Given the description of an element on the screen output the (x, y) to click on. 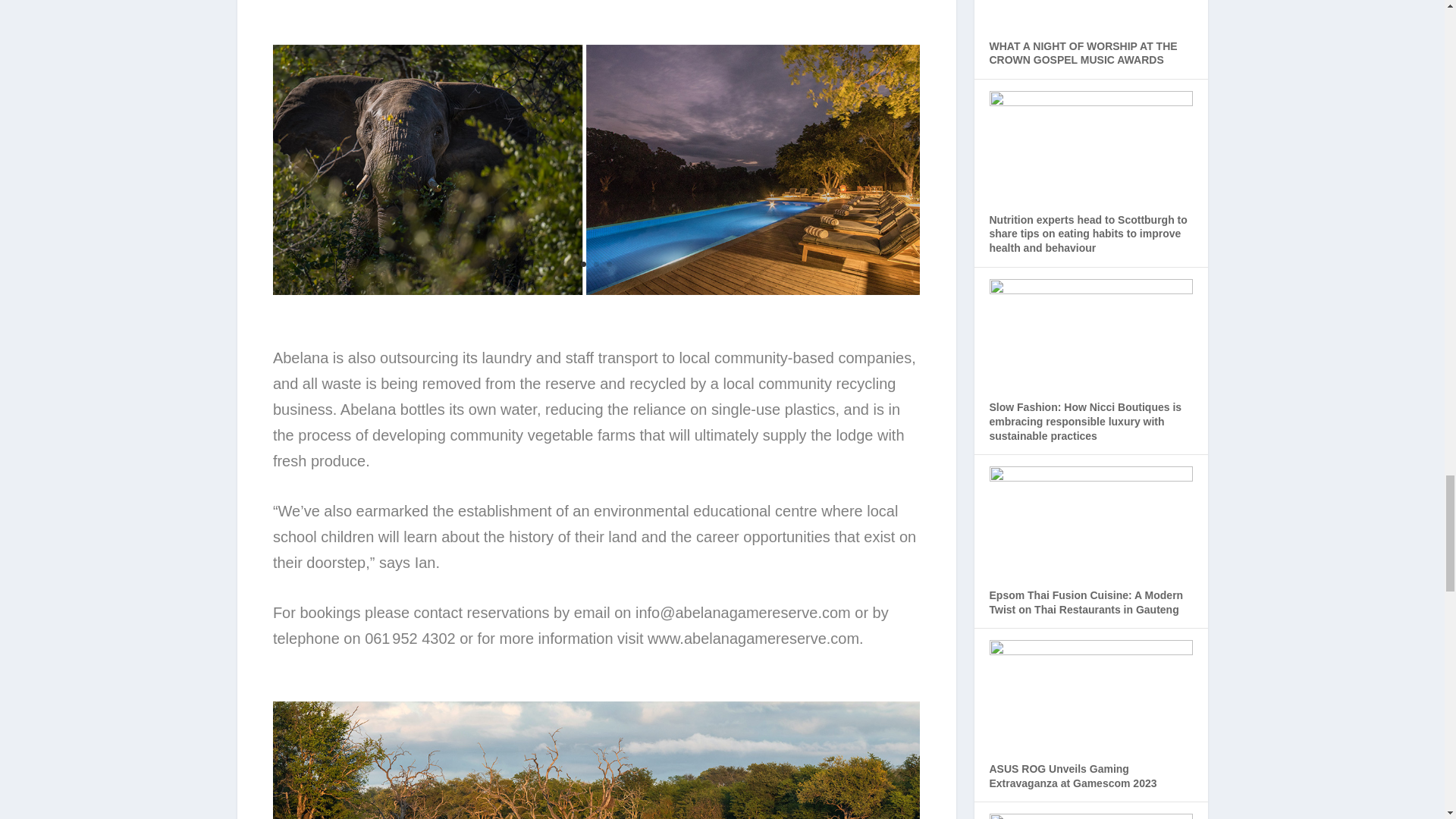
Gallery2 (596, 291)
